Given the description of an element on the screen output the (x, y) to click on. 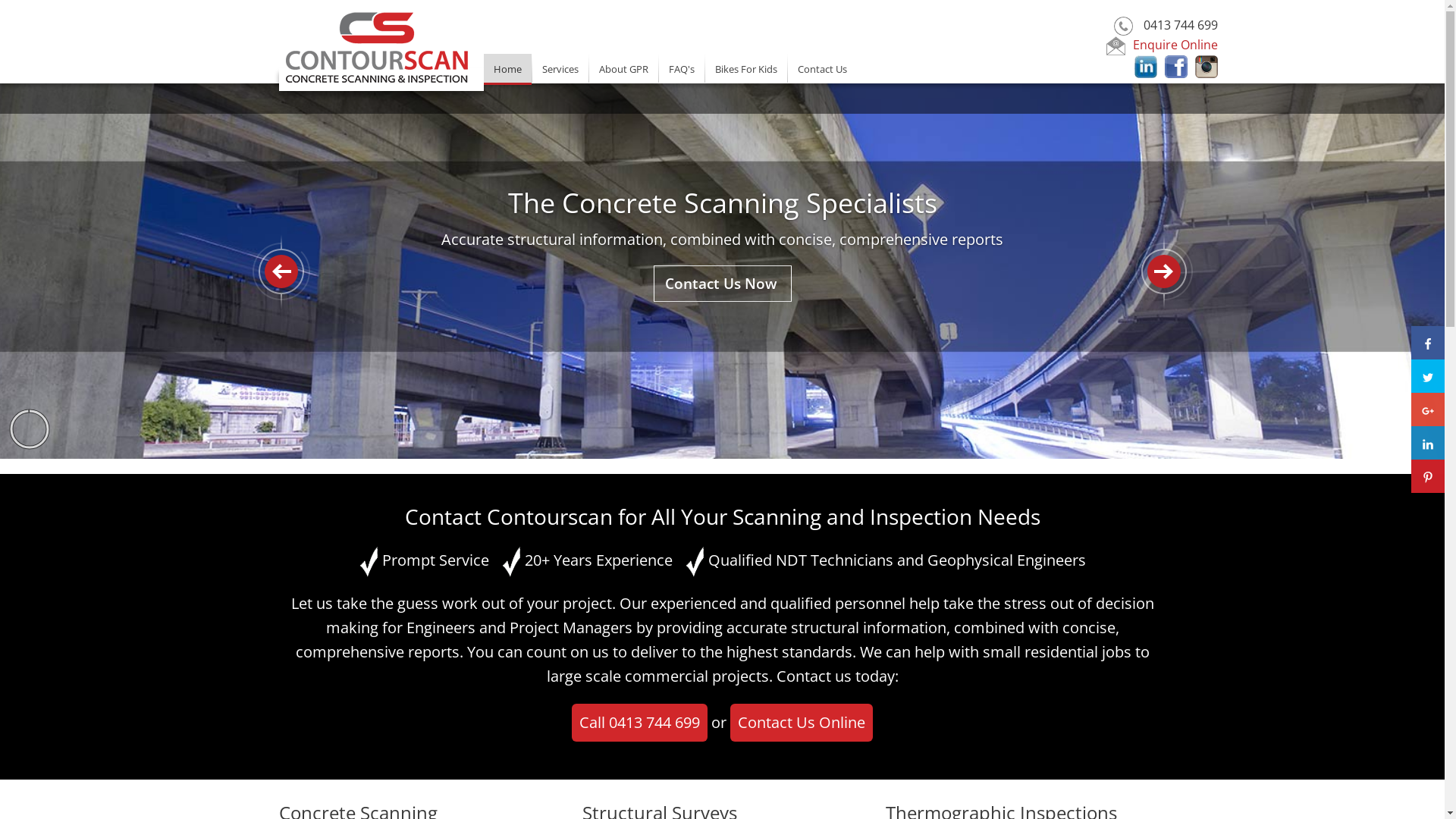
Home Element type: text (507, 68)
Contact Us Online Element type: text (801, 722)
Call 0413 744 699 Element type: text (639, 722)
Contact Us Now Element type: text (720, 284)
Contact Us Element type: text (821, 67)
Bikes For Kids Element type: text (746, 67)
About GPR Element type: text (622, 67)
0413 744 699 Element type: text (1180, 24)
FAQ's Element type: text (680, 67)
Services Element type: text (560, 67)
Enquire Online Element type: text (1161, 44)
